Given the description of an element on the screen output the (x, y) to click on. 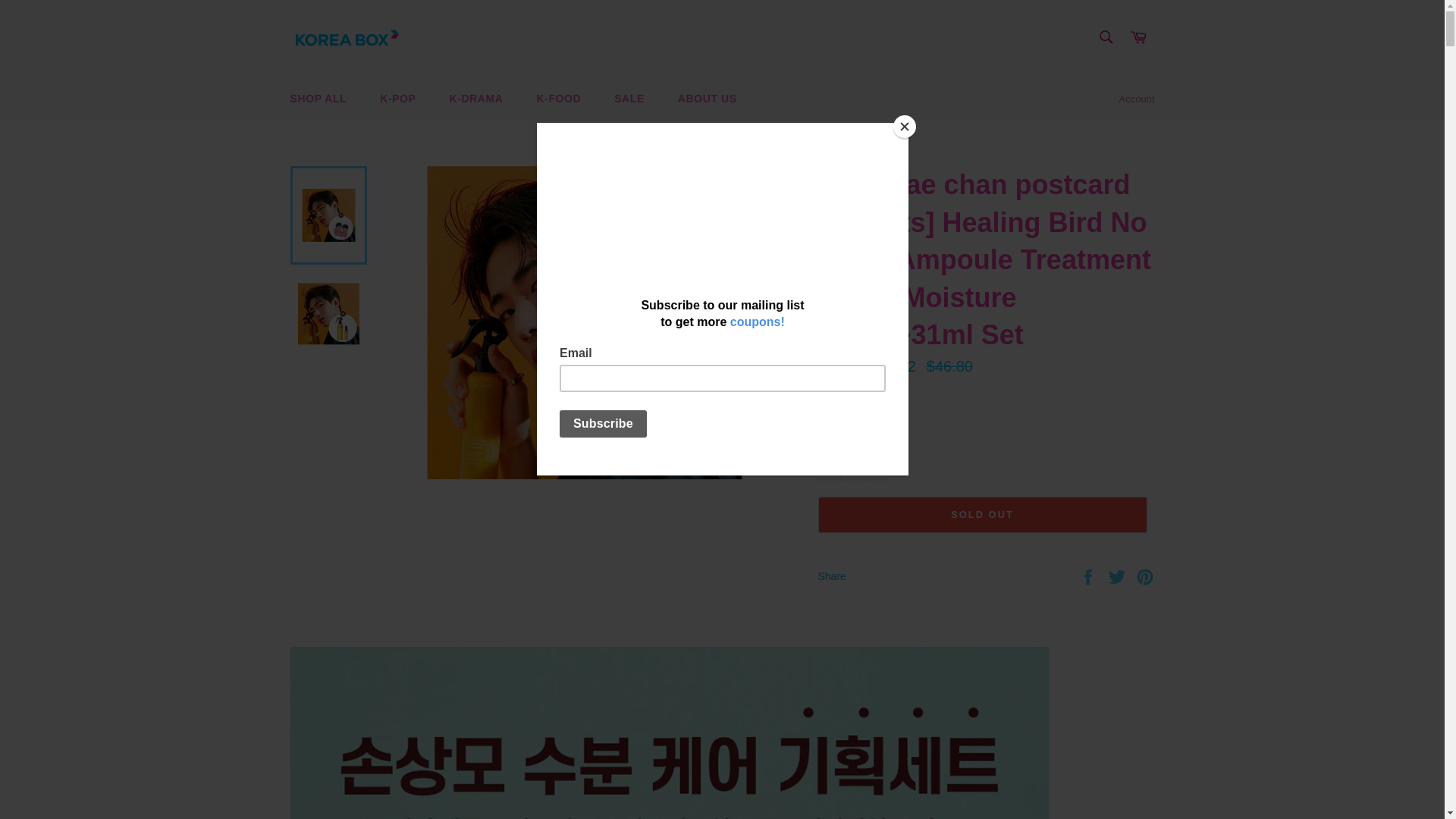
Share on Facebook (1089, 575)
SALE (628, 98)
Search (1104, 37)
K-DRAMA (475, 98)
K-FOOD (558, 98)
Cart (1138, 38)
Tweet on Twitter (1118, 575)
SHOP ALL (318, 98)
Account (1136, 98)
1 (850, 463)
K-POP (397, 98)
Pin on Pinterest (1144, 575)
ABOUT US (707, 98)
